Given the description of an element on the screen output the (x, y) to click on. 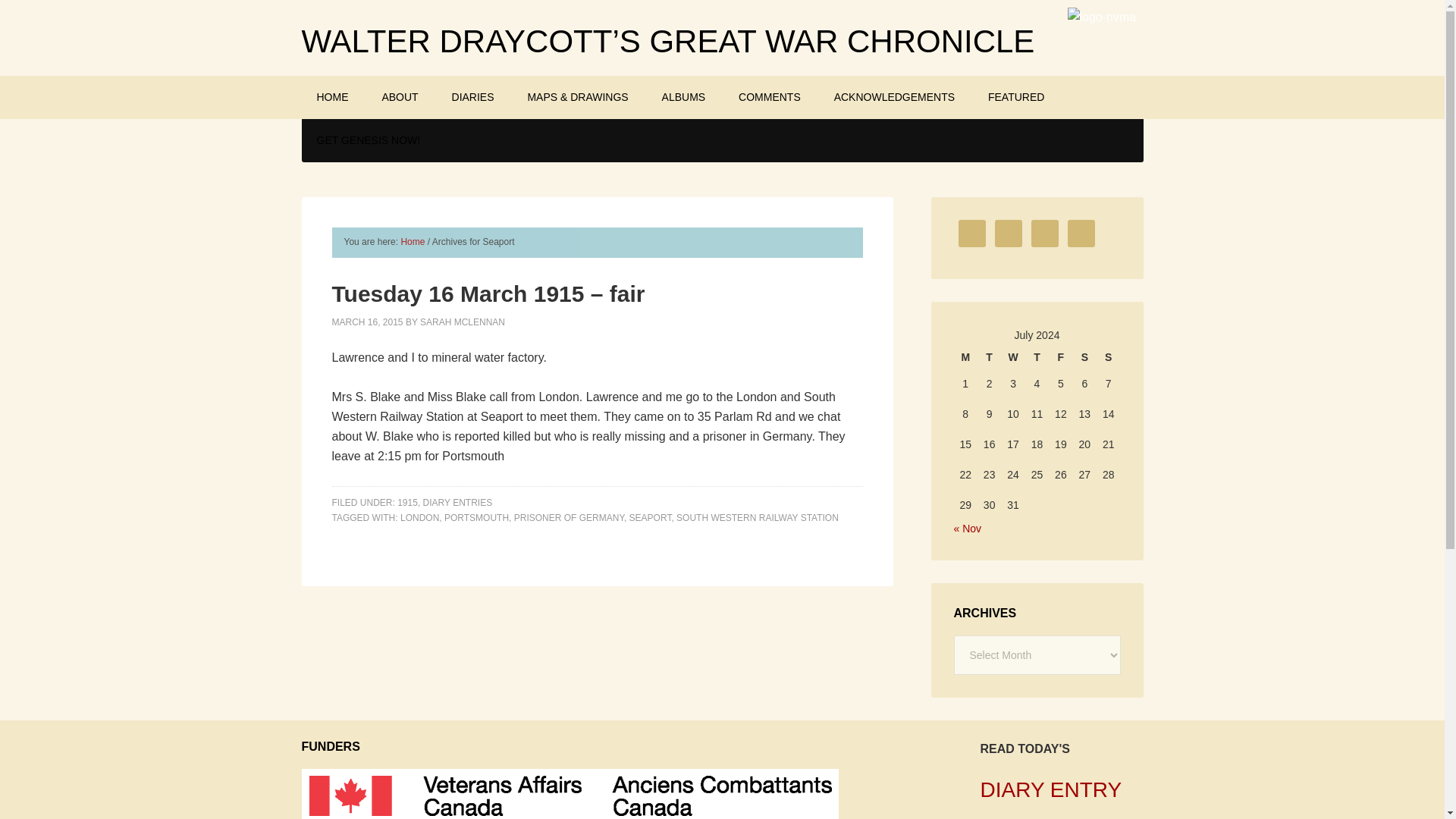
ACKNOWLEDGEMENTS (893, 97)
COMMENTS (769, 97)
Thursday (1036, 356)
ABOUT (399, 97)
Friday (1059, 356)
Saturday (1084, 356)
Tuesday (988, 356)
DIARIES (472, 97)
Wednesday (1013, 356)
Home (412, 241)
